Given the description of an element on the screen output the (x, y) to click on. 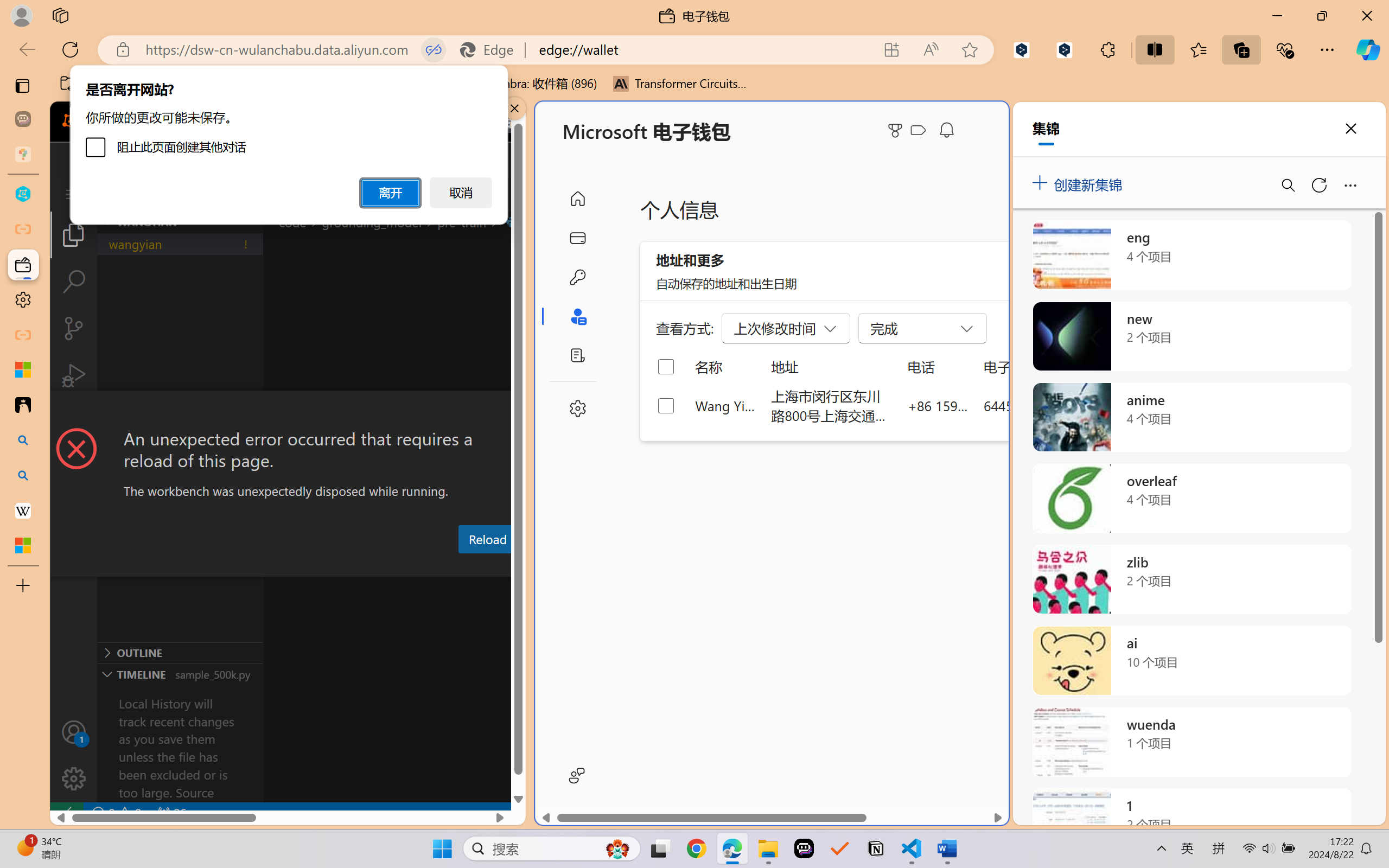
Close Dialog (520, 410)
Transformer Circuits Thread (680, 83)
Extensions (Ctrl+Shift+X) (73, 422)
Copilot (Ctrl+Shift+.) (1368, 49)
